Given the description of an element on the screen output the (x, y) to click on. 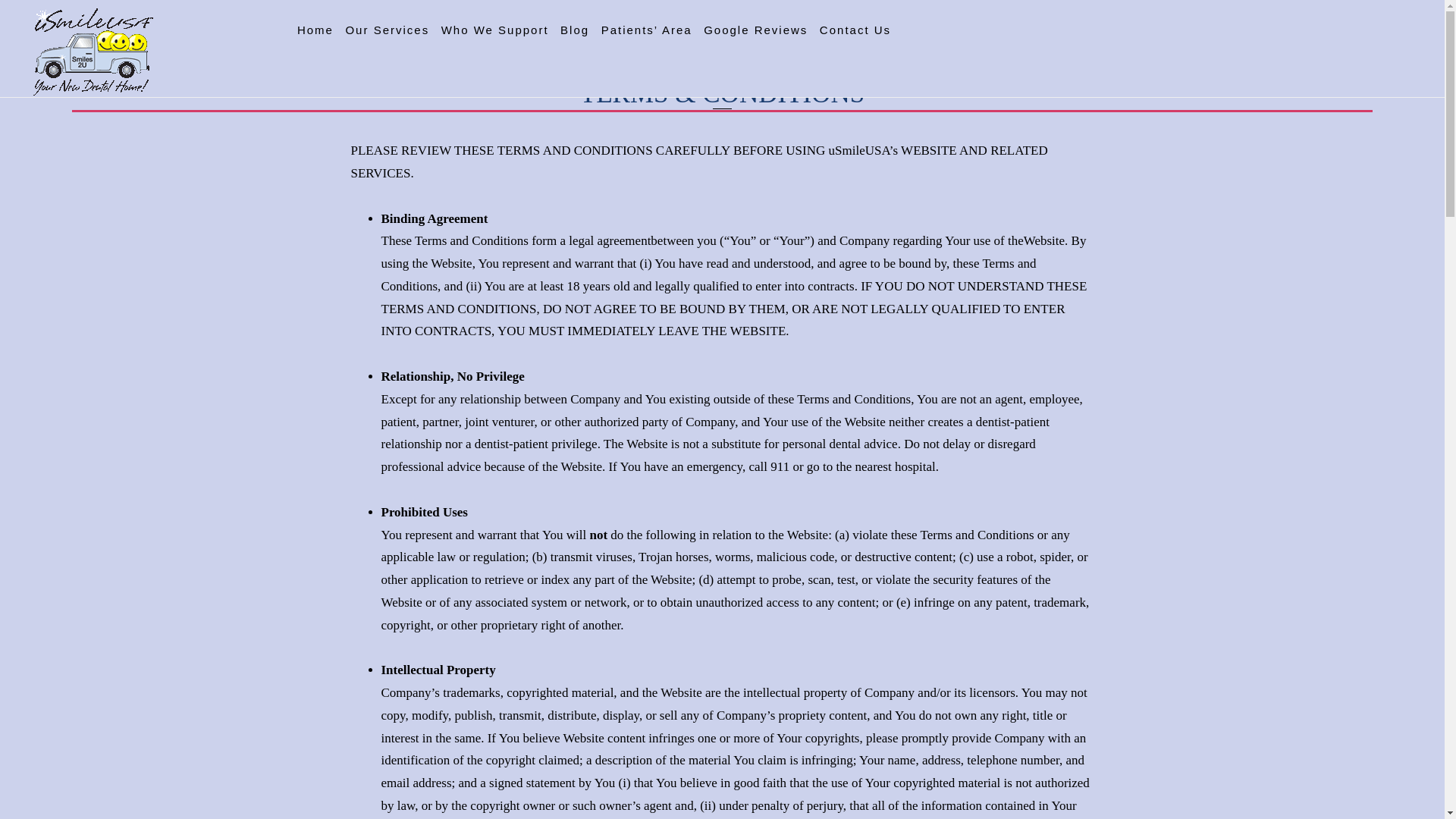
Google Reviews (755, 29)
Our Services (386, 29)
Contact Us (855, 29)
Who We Support (495, 29)
